Given the description of an element on the screen output the (x, y) to click on. 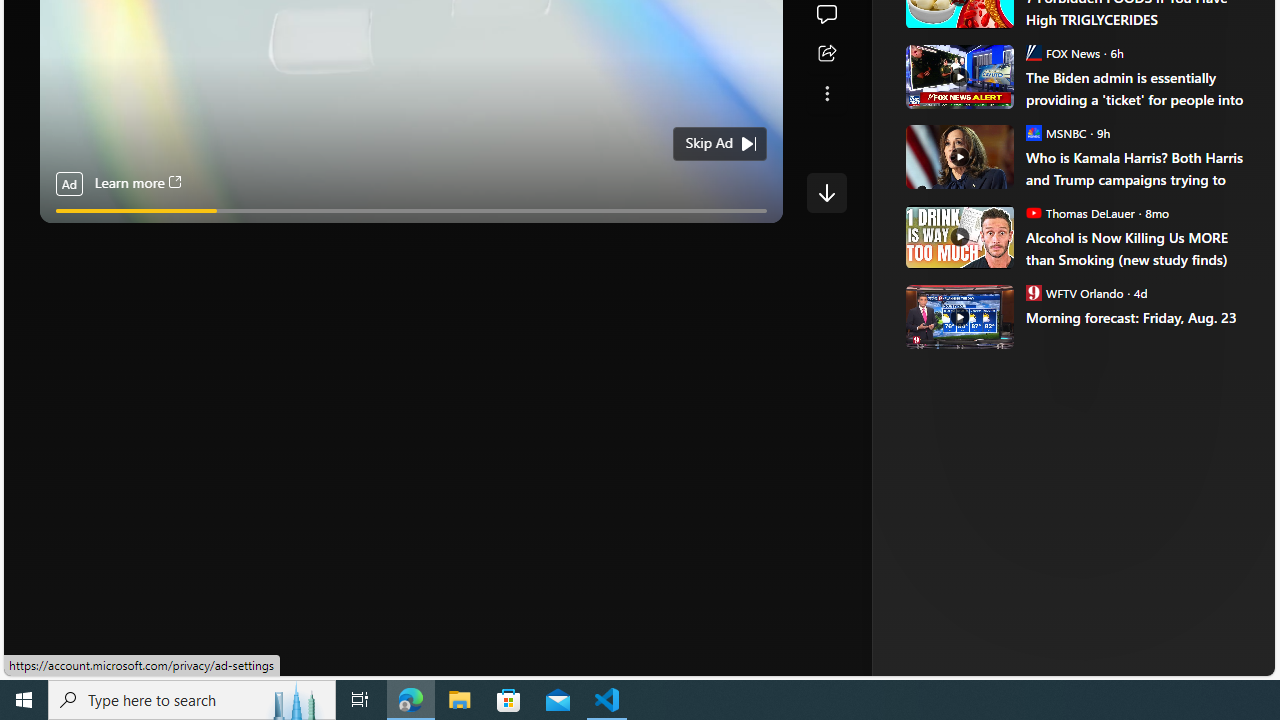
WFTV Orlando (1033, 291)
Class: control (826, 192)
